Given the description of an element on the screen output the (x, y) to click on. 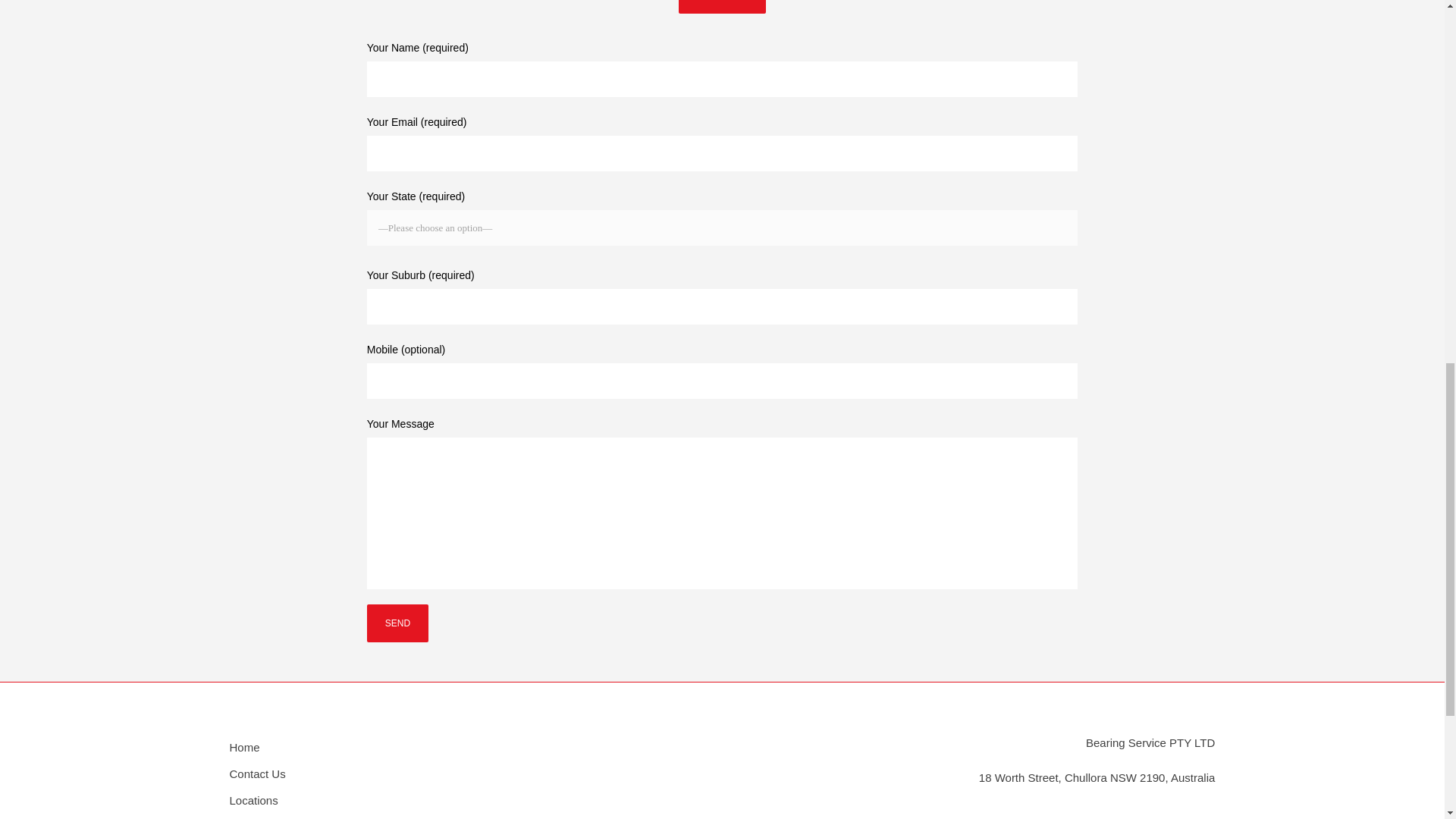
Send (397, 623)
